Given the description of an element on the screen output the (x, y) to click on. 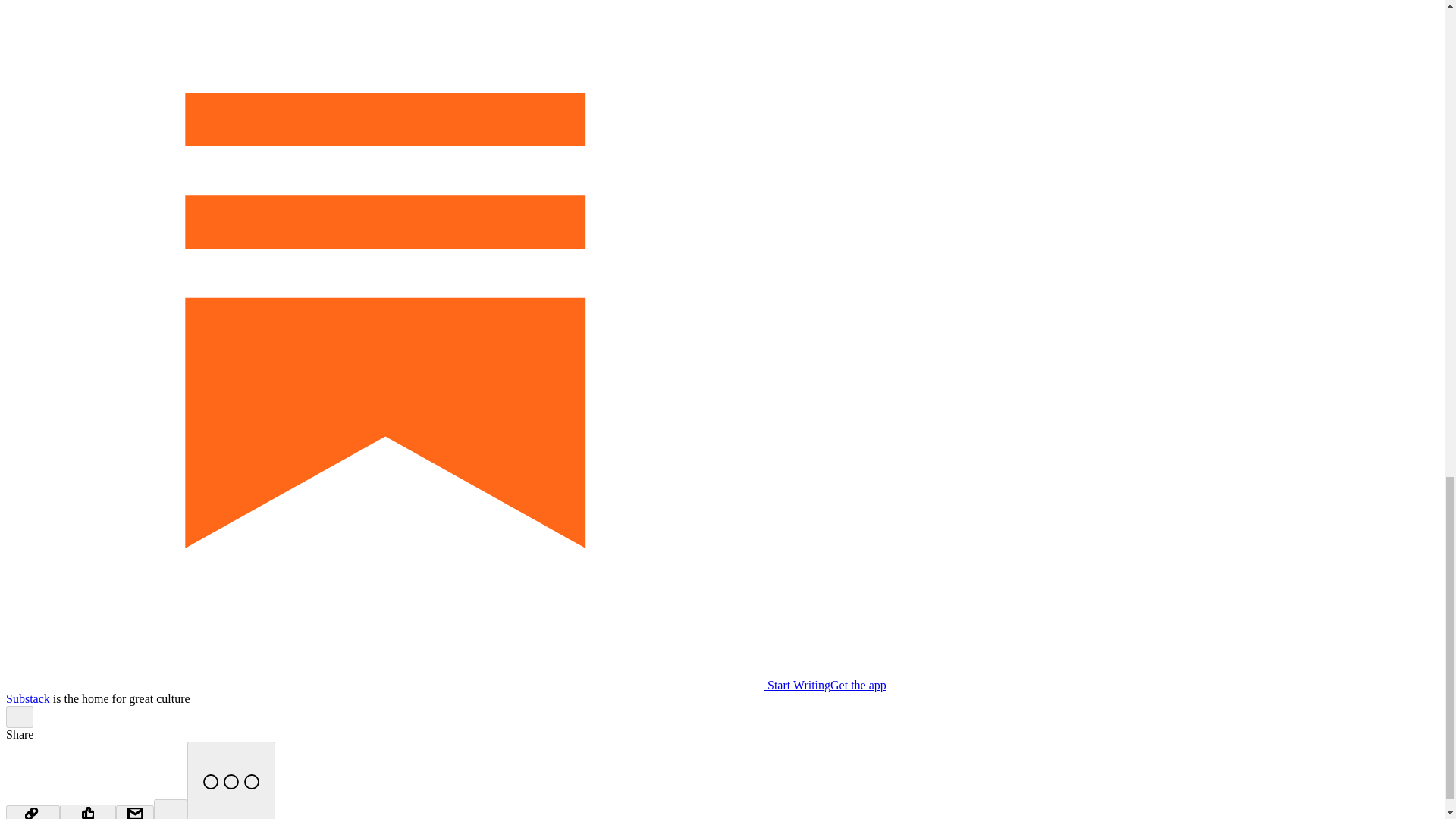
Substack (27, 698)
Start Writing (417, 684)
Get the app (857, 684)
